Given the description of an element on the screen output the (x, y) to click on. 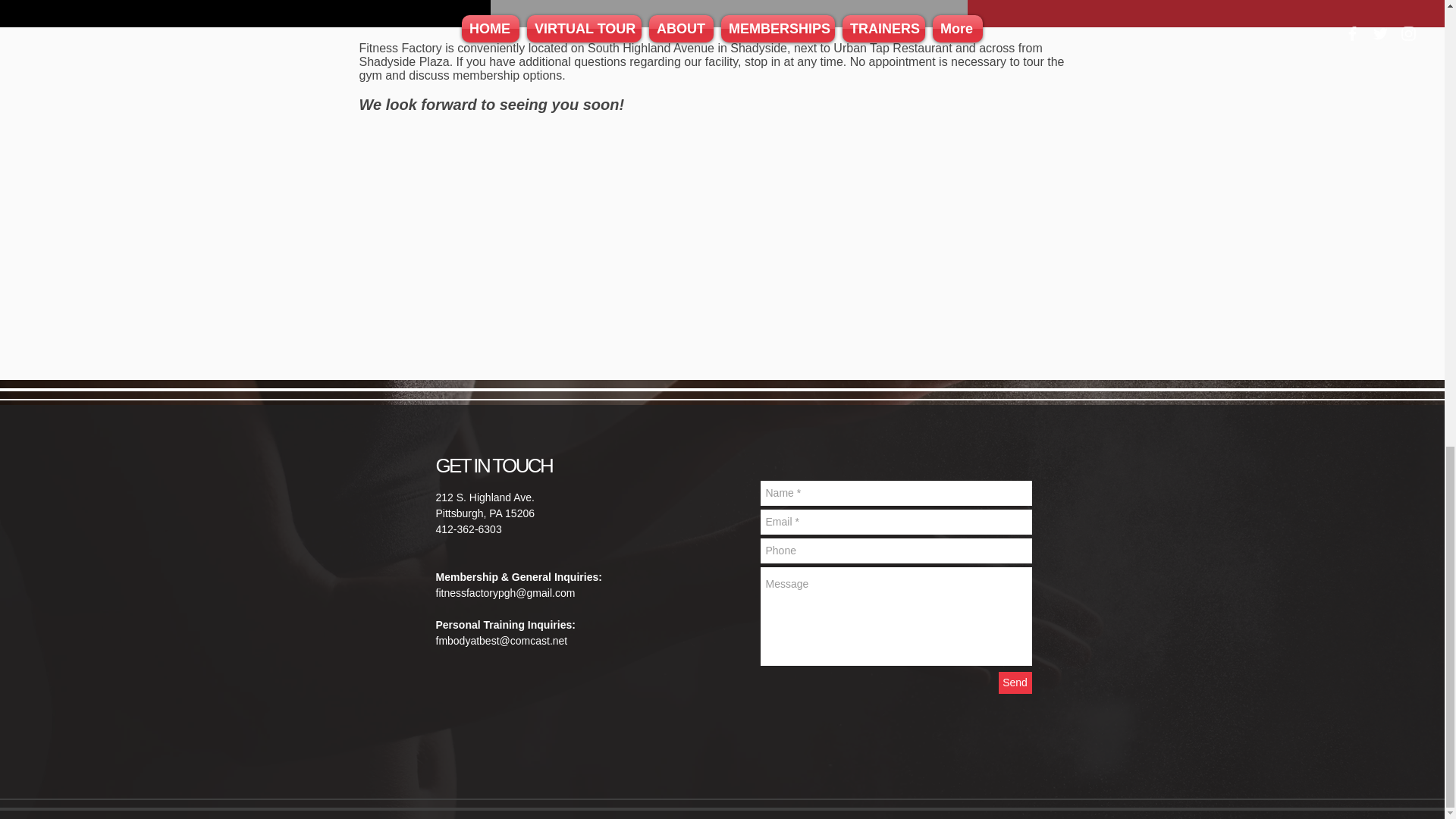
Send (1013, 682)
